Given the description of an element on the screen output the (x, y) to click on. 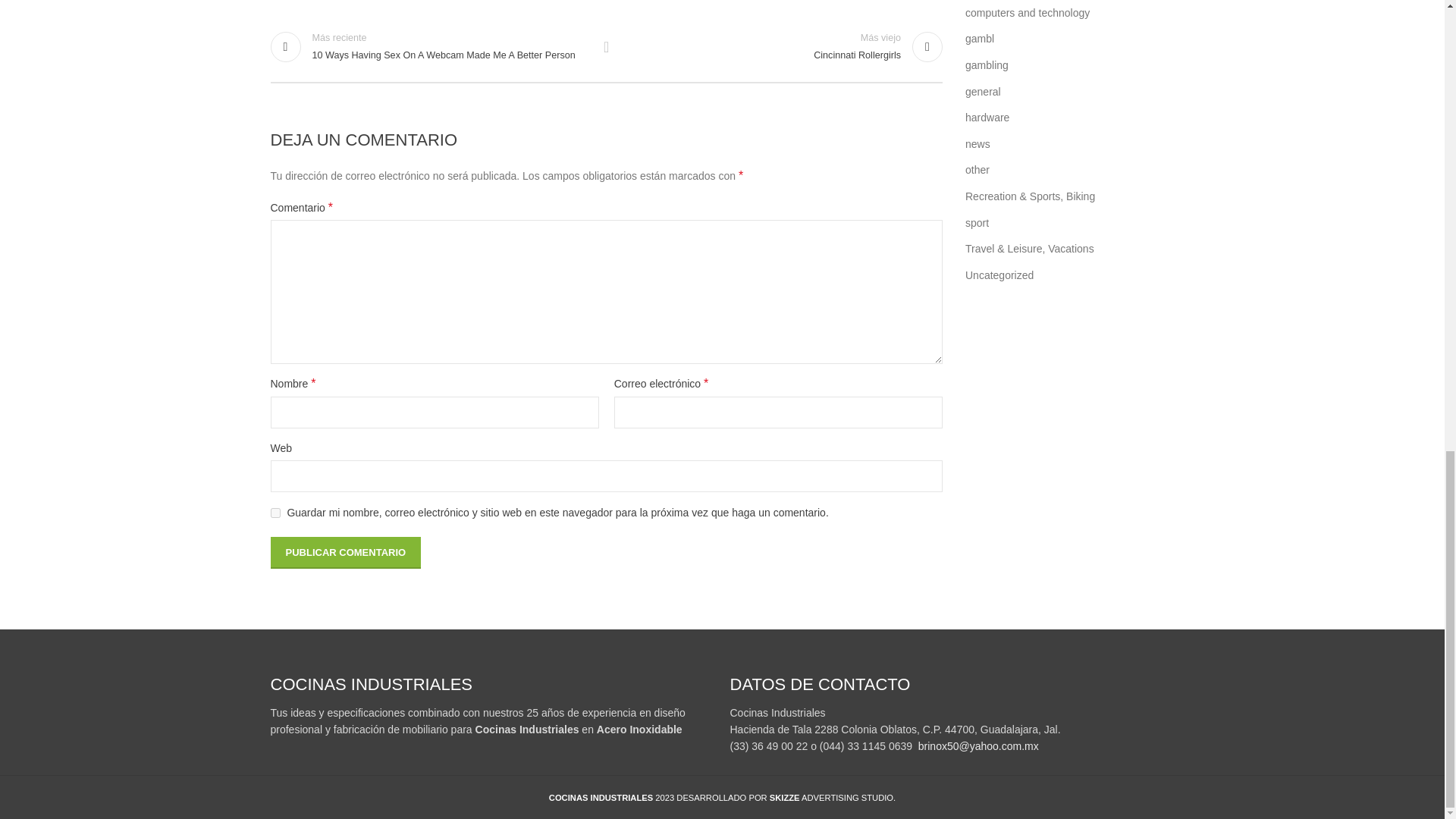
Publicar comentario (344, 552)
Volver a la lista (606, 46)
yes (274, 512)
Publicar comentario (344, 552)
